Given the description of an element on the screen output the (x, y) to click on. 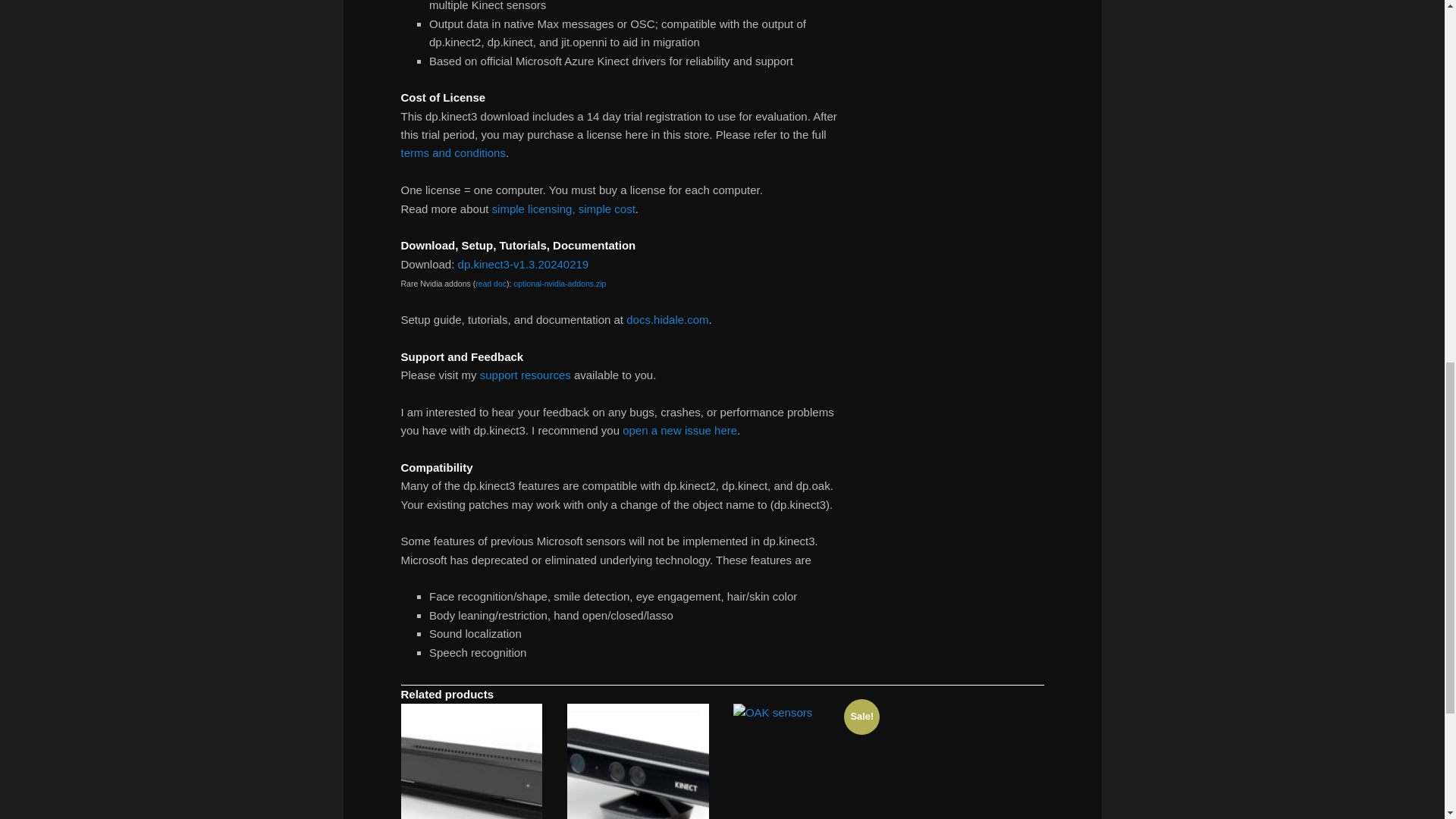
Terms and Conditions (563, 207)
Terms and Conditions (452, 152)
